Given the description of an element on the screen output the (x, y) to click on. 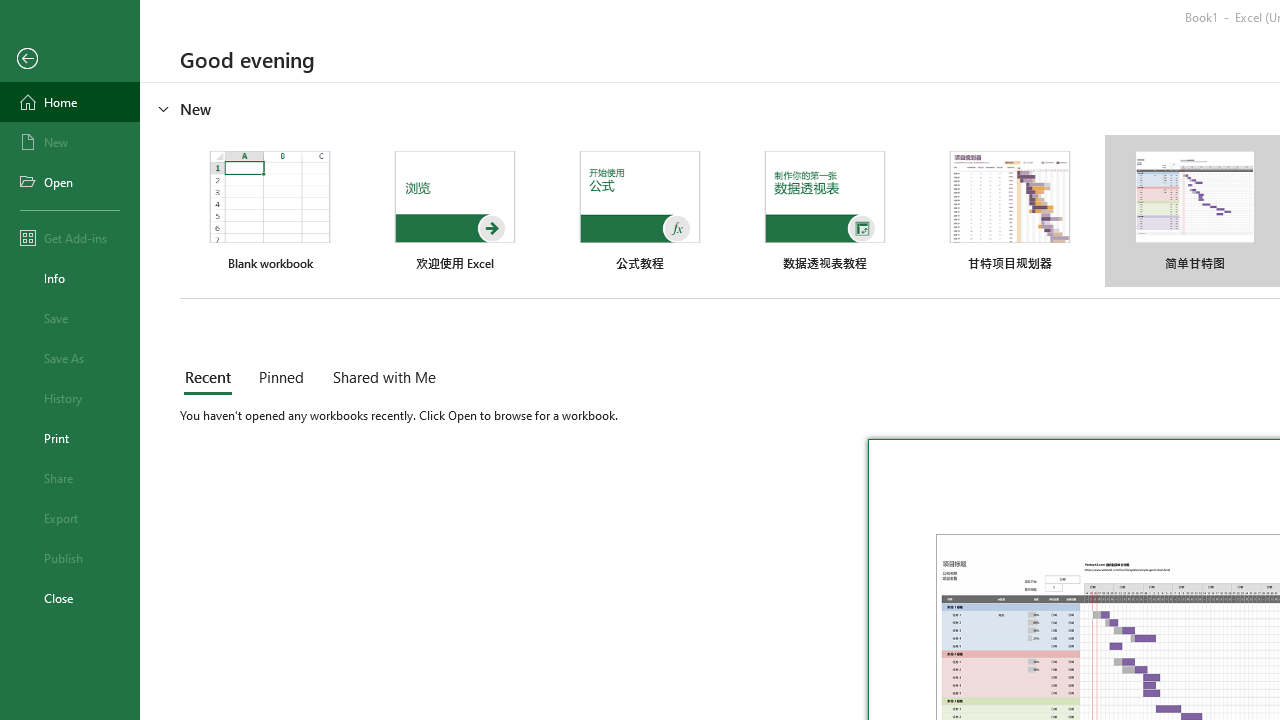
Open (69, 182)
System (10, 11)
Hide or show region (164, 108)
Publish (69, 557)
Blank workbook (269, 211)
Get Add-ins (69, 237)
Share (69, 477)
